Given the description of an element on the screen output the (x, y) to click on. 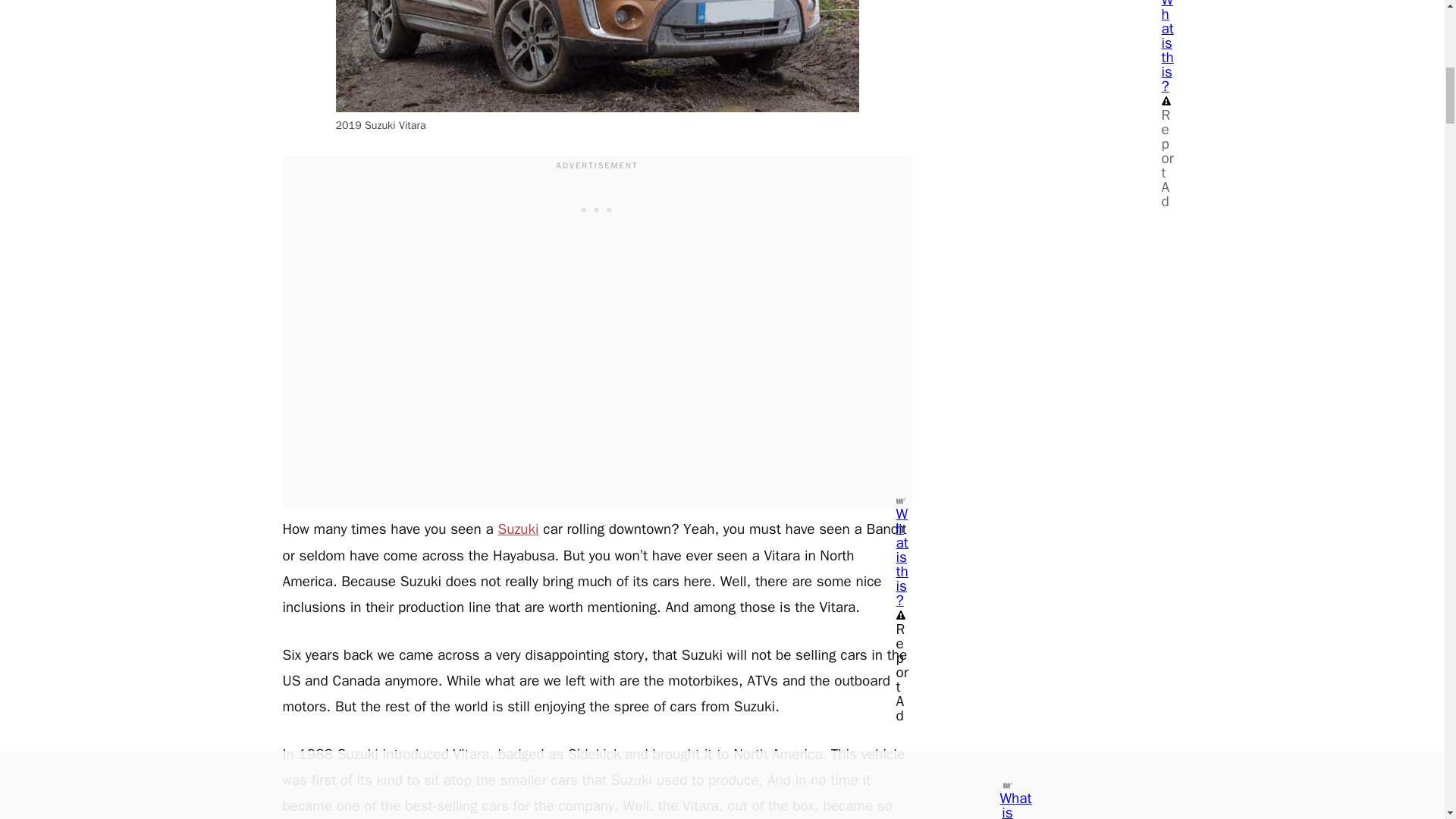
3rd party ad content (597, 209)
